Given the description of an element on the screen output the (x, y) to click on. 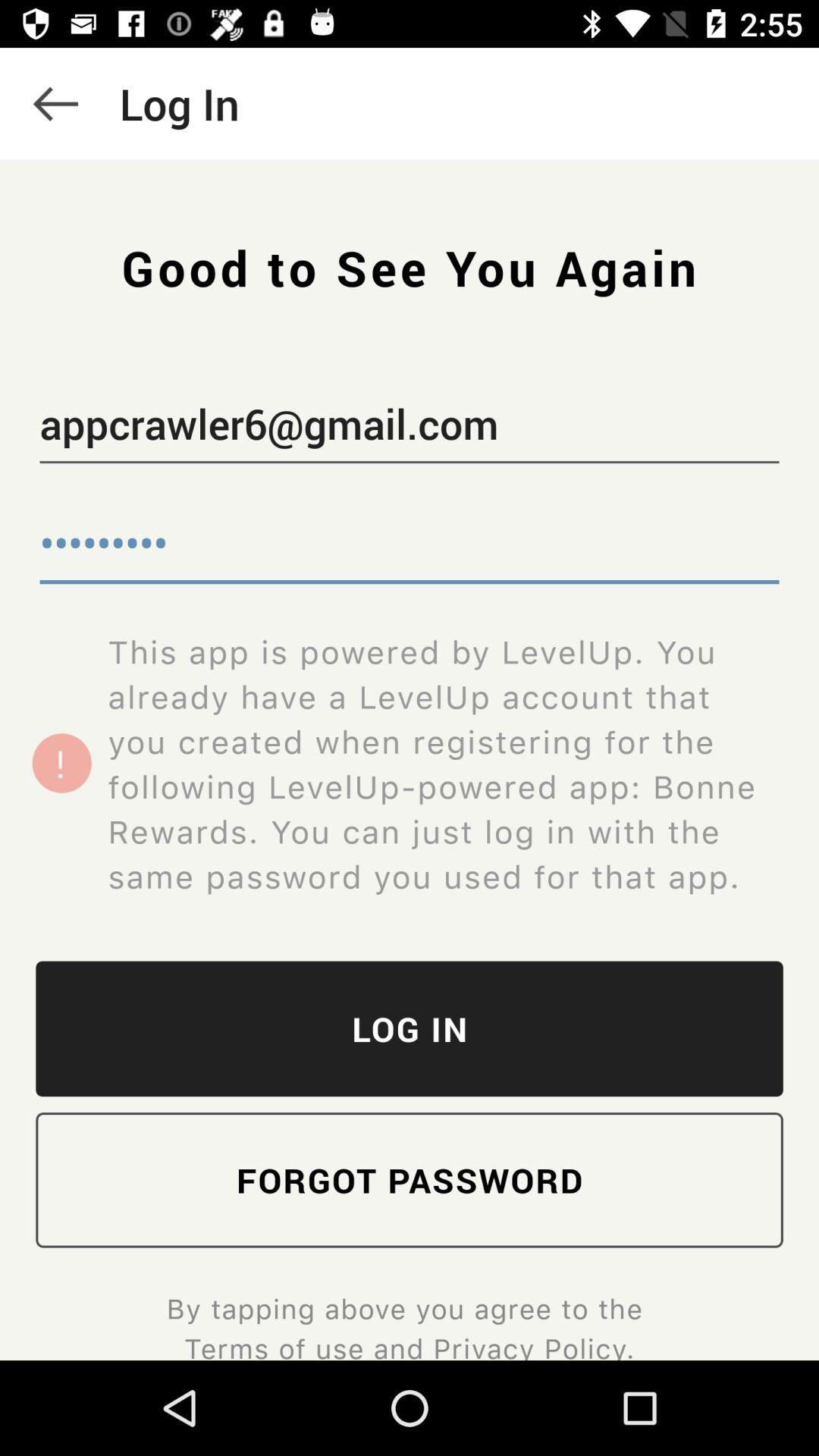
flip to forgot password icon (409, 1179)
